Given the description of an element on the screen output the (x, y) to click on. 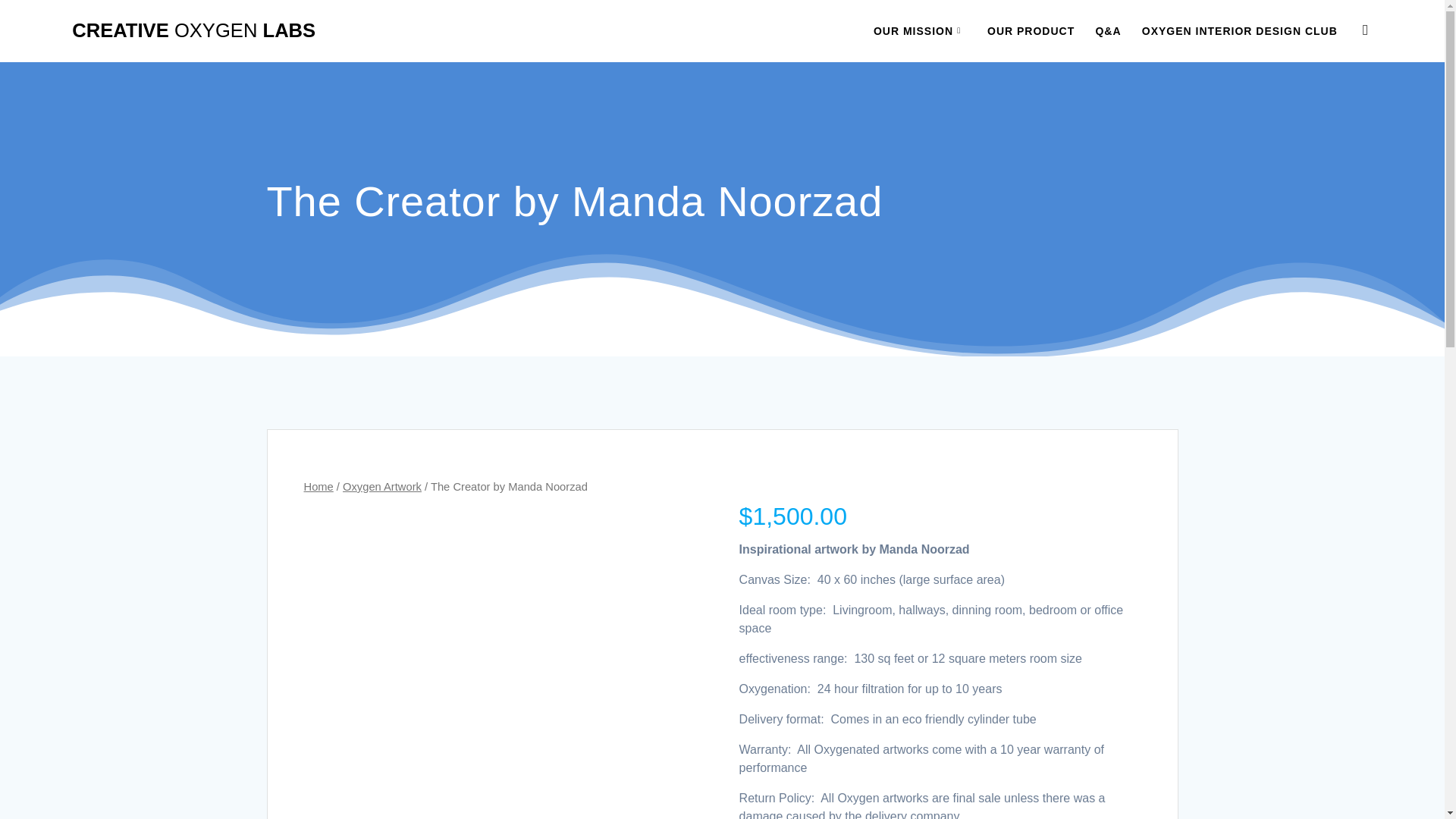
OUR MISSION (919, 30)
OXYGEN INTERIOR DESIGN CLUB (1239, 30)
Home (317, 486)
CREATIVE OXYGEN LABS (193, 30)
Oxygen Artwork (382, 486)
OUR PRODUCT (1030, 30)
